Given the description of an element on the screen output the (x, y) to click on. 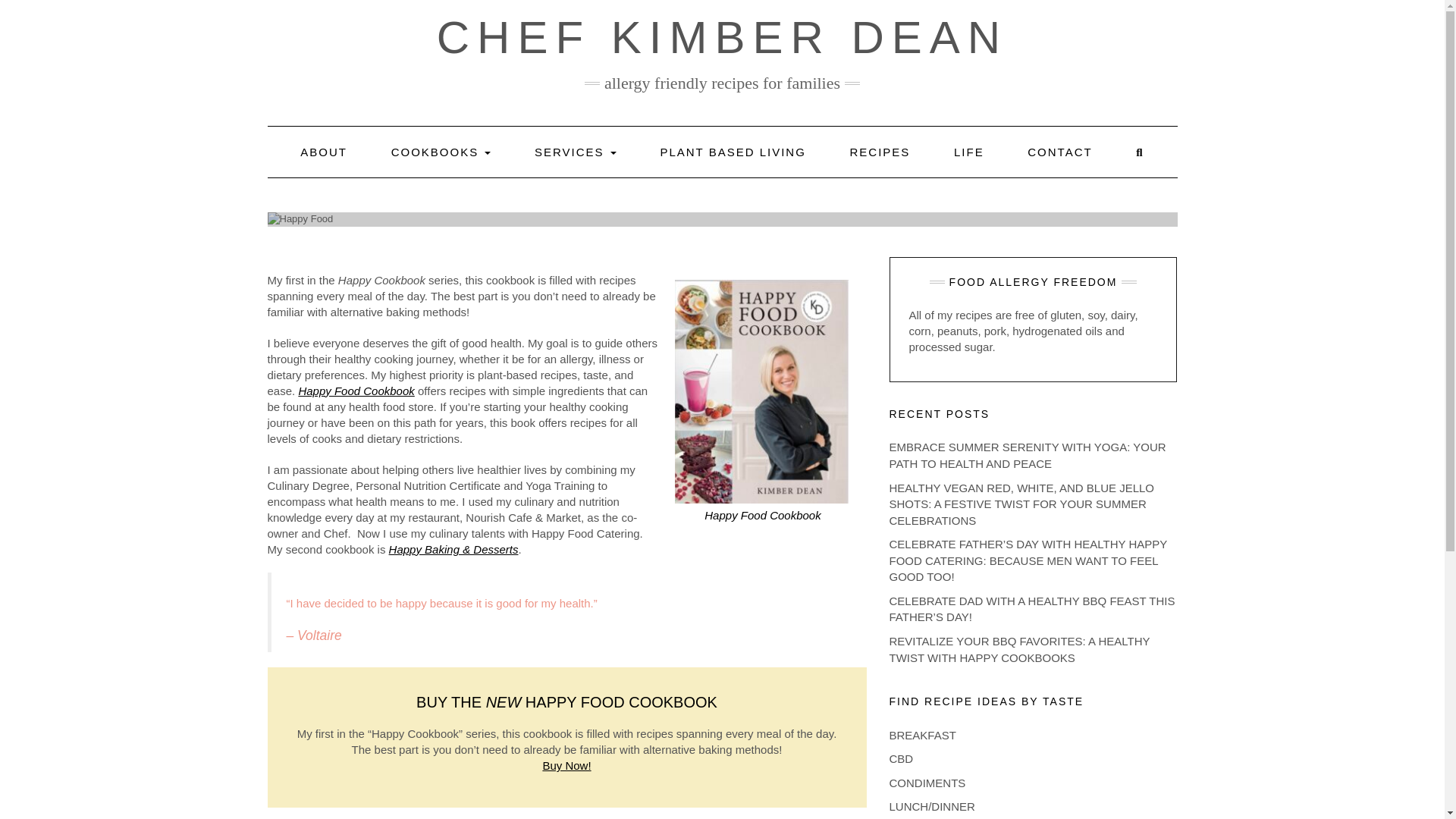
RECIPES (879, 151)
BREAKFAST (921, 735)
CHEF KIMBER DEAN (721, 37)
SERVICES (575, 151)
Happy Food Cookbook (762, 514)
COOKBOOKS (441, 151)
CONDIMENTS (926, 782)
Happy Food Cookbook (355, 390)
Buy Now! (566, 765)
CBD (900, 758)
CONTACT (1059, 151)
PLANT BASED LIVING (732, 151)
